Given the description of an element on the screen output the (x, y) to click on. 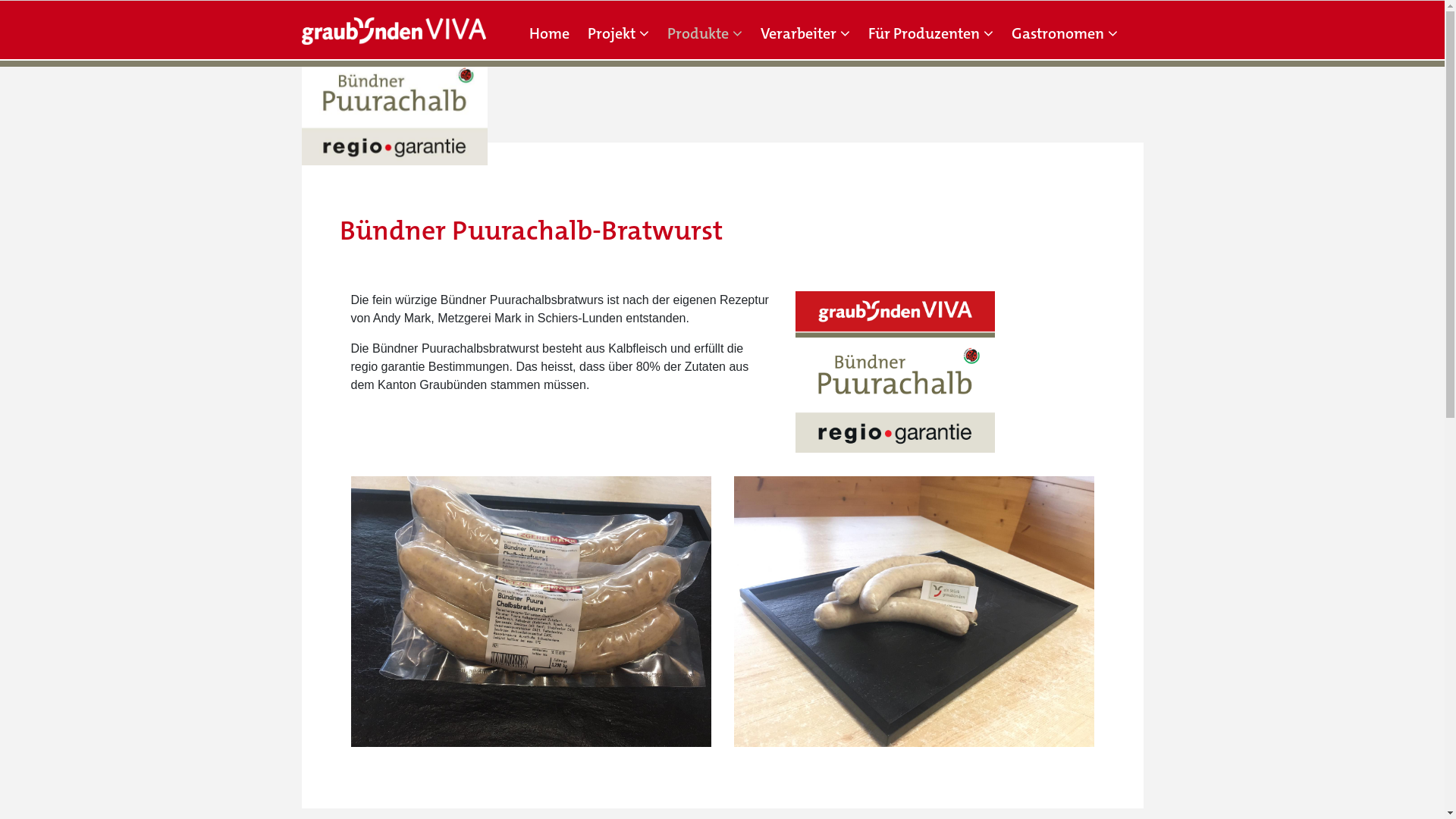
Produkte Element type: text (704, 33)
Home Element type: text (549, 33)
Verarbeiter Element type: text (805, 33)
Projekt Element type: text (618, 33)
Gastronomen Element type: text (1064, 33)
